Given the description of an element on the screen output the (x, y) to click on. 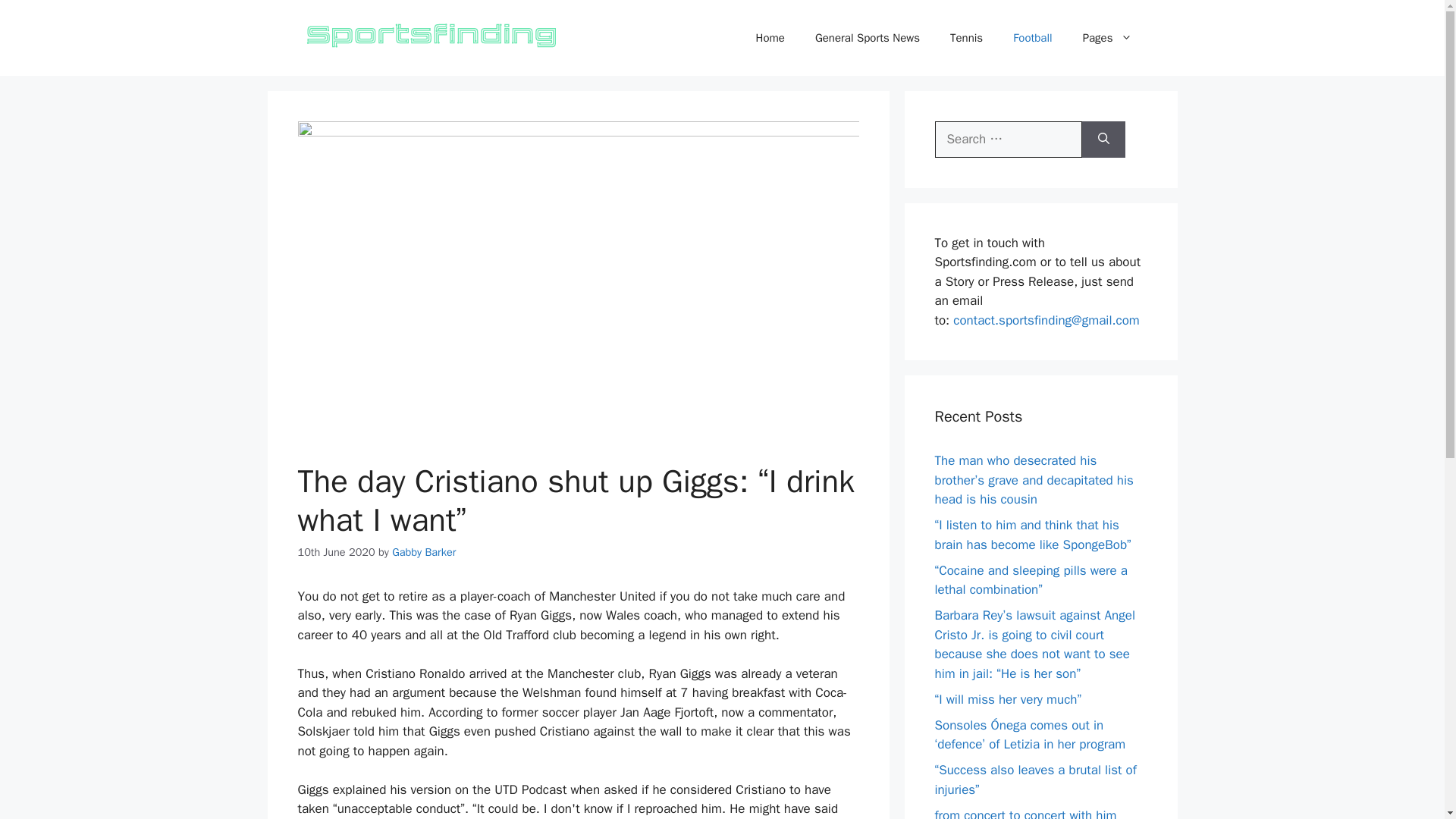
Search for: (1007, 139)
General Sports News (866, 37)
View all posts by Gabby Barker (423, 551)
Tennis (965, 37)
Gabby Barker (423, 551)
Pages (1107, 37)
Home (770, 37)
Football (1032, 37)
from concert to concert with him (1025, 812)
